Given the description of an element on the screen output the (x, y) to click on. 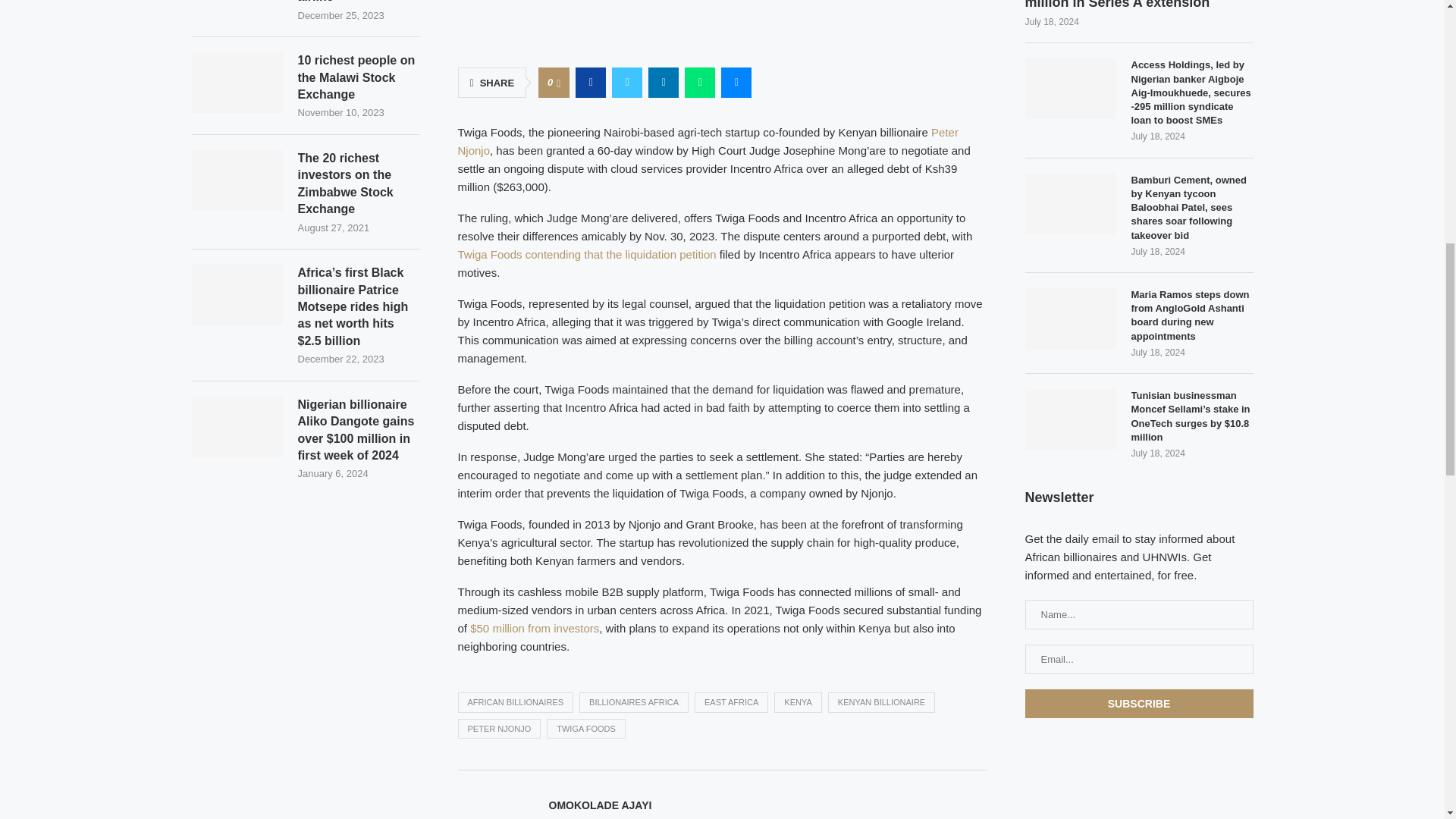
 Omokolade Ajayi (600, 805)
Like (558, 82)
Subscribe (1139, 703)
Peter Njonjo 2 (722, 23)
